Given the description of an element on the screen output the (x, y) to click on. 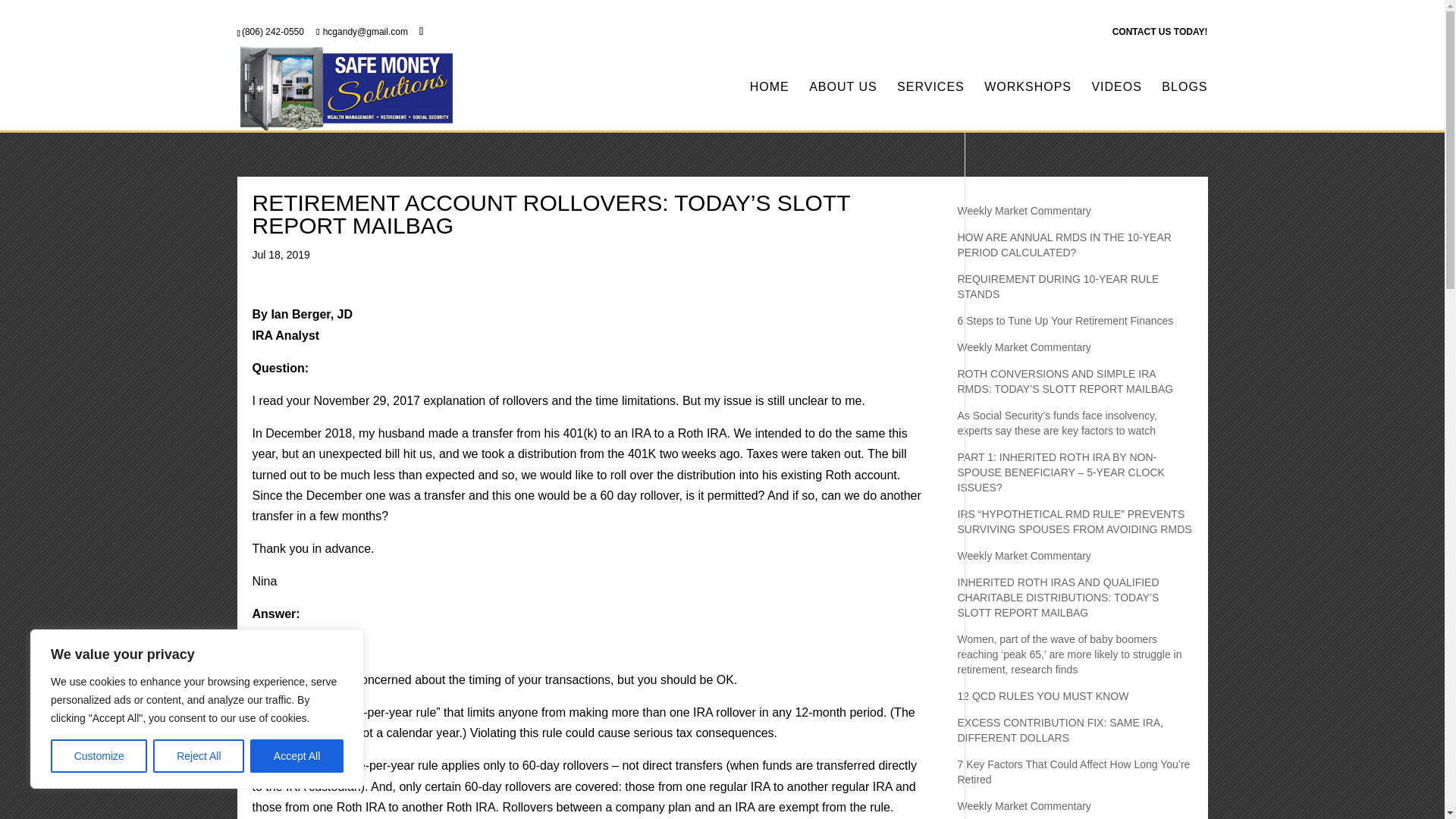
6 Steps to Tune Up Your Retirement Finances (1064, 320)
WORKSHOPS (1027, 105)
VIDEOS (1115, 105)
Accept All (296, 756)
Customize (98, 756)
Weekly Market Commentary (1023, 346)
REQUIREMENT DURING 10-YEAR RULE STANDS (1057, 286)
ABOUT US (843, 105)
CONTACT US TODAY! (1160, 35)
BLOGS (1184, 105)
HOW ARE ANNUAL RMDS IN THE 10-YEAR PERIOD CALCULATED? (1063, 244)
Weekly Market Commentary (1023, 210)
SERVICES (929, 105)
Reject All (198, 756)
